Given the description of an element on the screen output the (x, y) to click on. 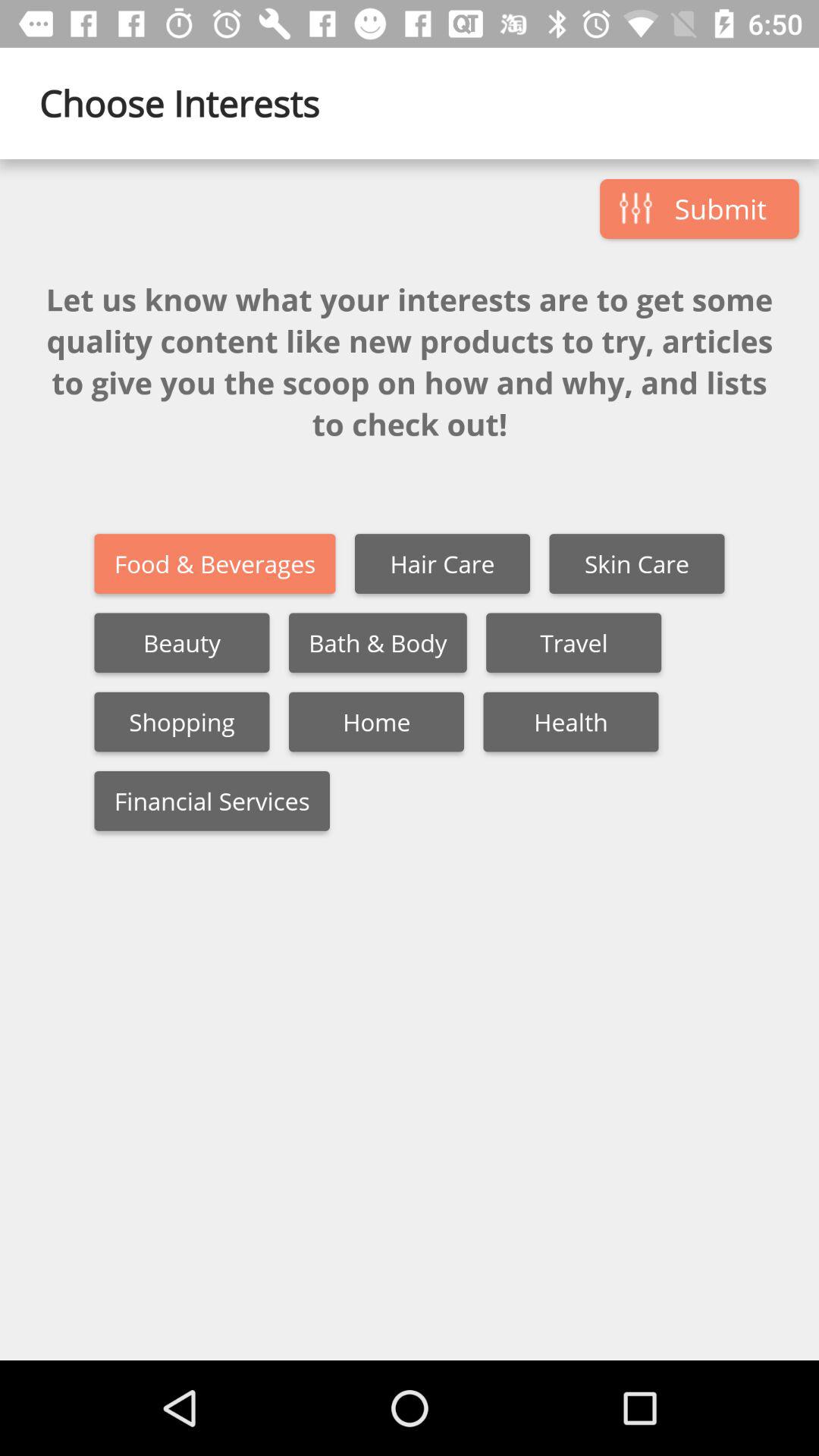
choose the financial services icon (211, 800)
